Given the description of an element on the screen output the (x, y) to click on. 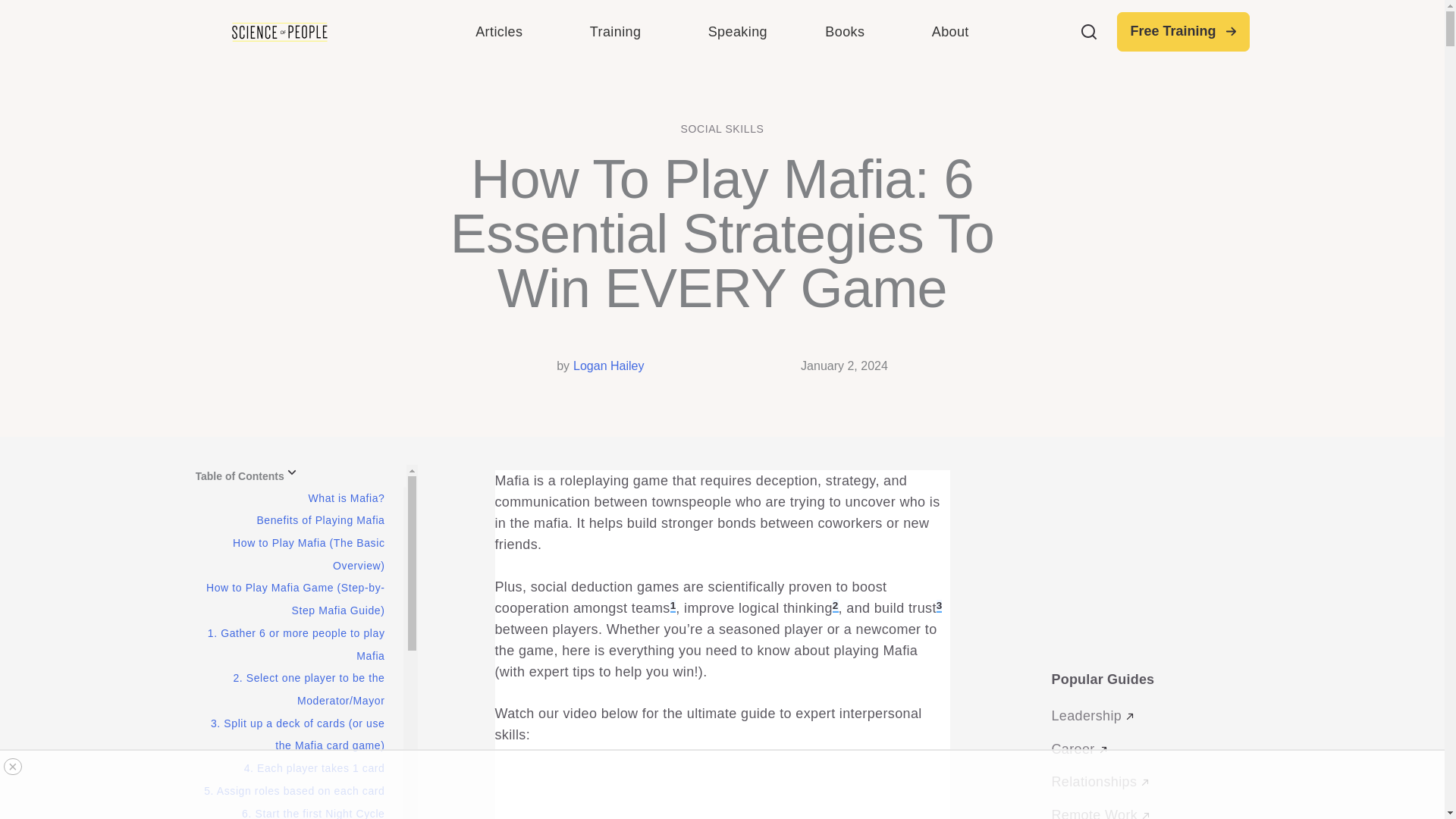
Benefits of Playing Mafia (320, 520)
5. Assign roles based on each card (722, 31)
1. Gather 6 or more people to play Mafia (293, 790)
What is Mafia? (296, 644)
Articles (345, 498)
4. Each player takes 1 card (502, 31)
6. Start the first Night Cycle (314, 767)
